Given the description of an element on the screen output the (x, y) to click on. 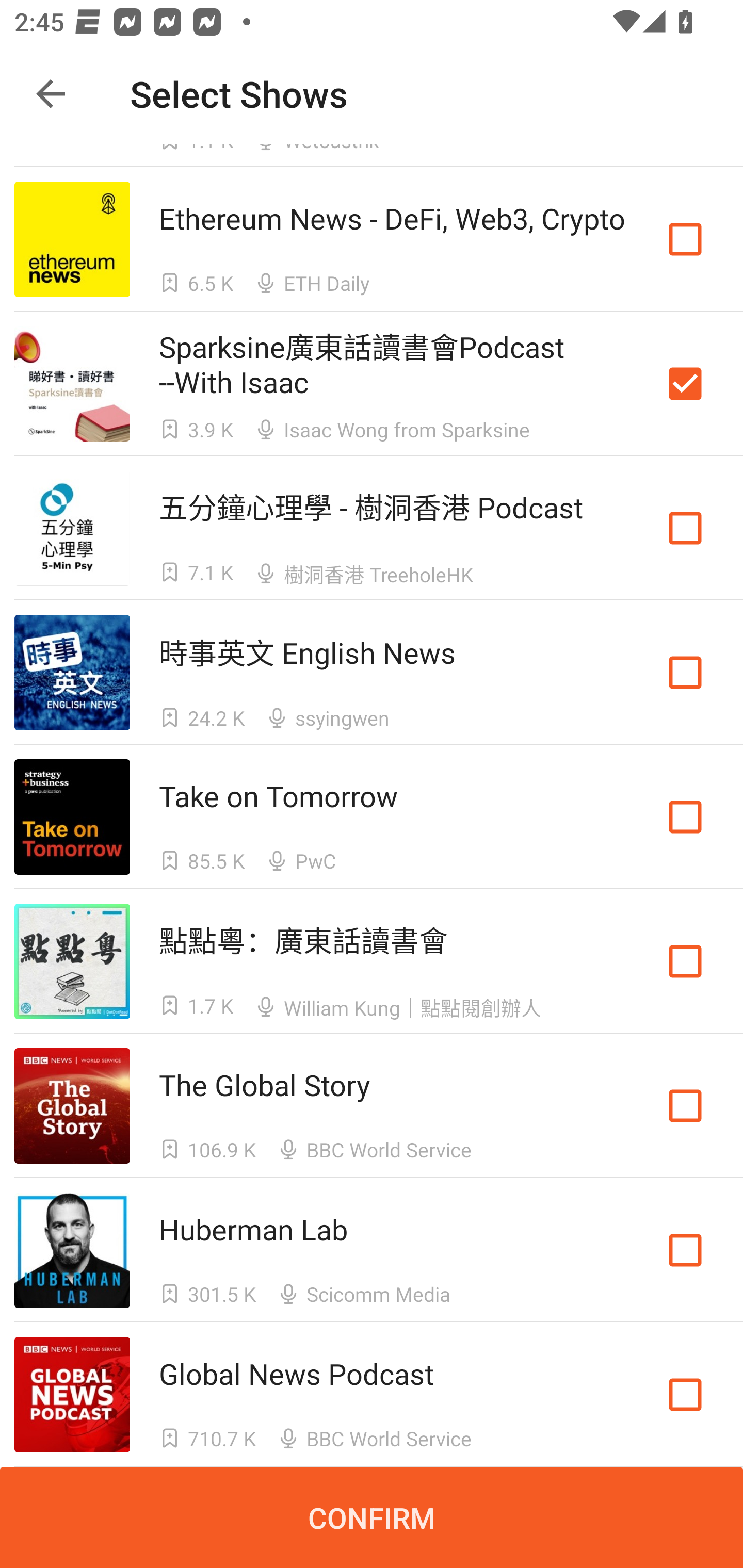
Navigate up (50, 93)
Take on Tomorrow Take on Tomorrow  85.5 K  PwC (371, 816)
CONFIRM (371, 1517)
